Given the description of an element on the screen output the (x, y) to click on. 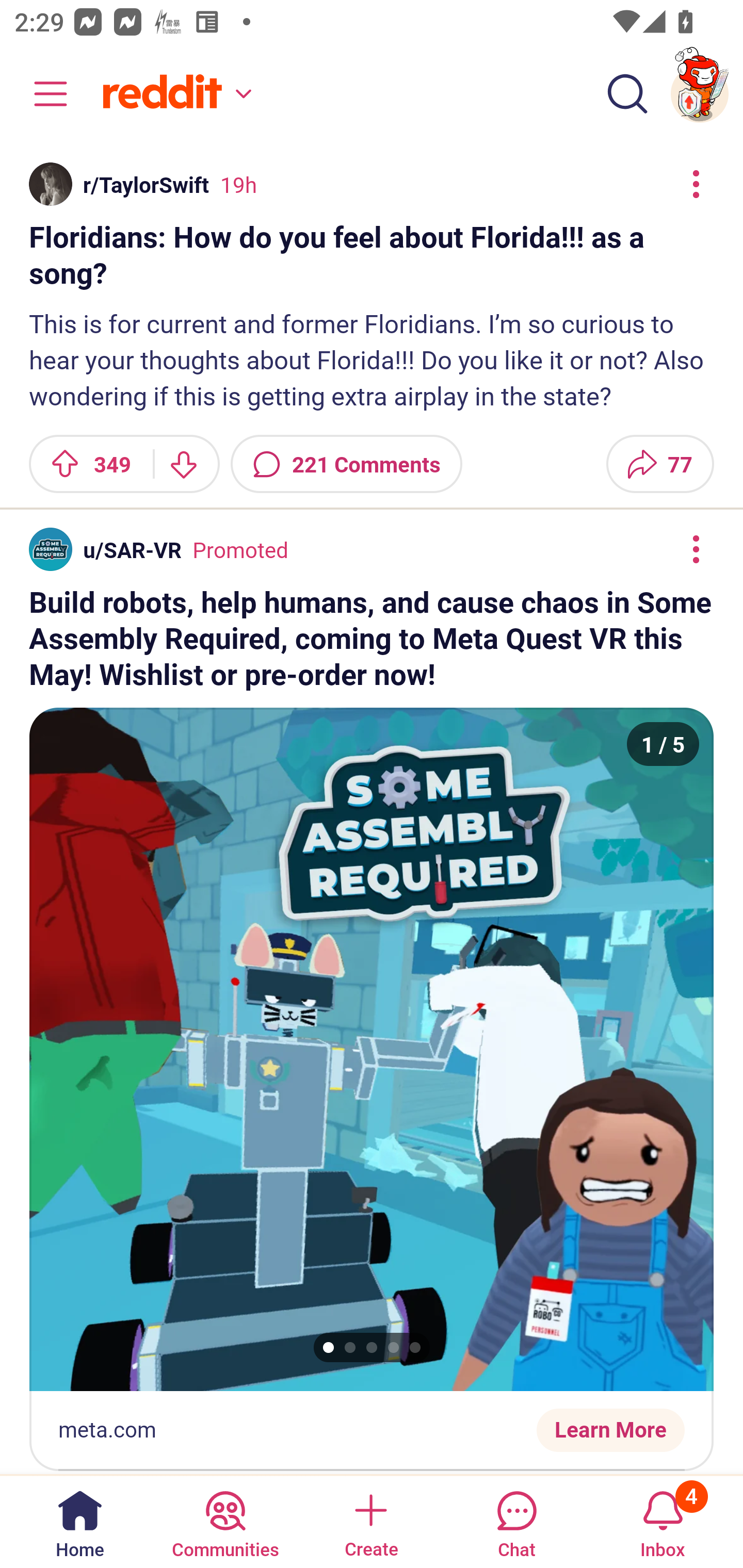
Search (626, 93)
TestAppium002 account (699, 93)
Community menu (41, 94)
Home feed (173, 94)
Home (80, 1520)
Communities (225, 1520)
Create a post Create (370, 1520)
Chat (516, 1520)
Inbox, has 4 notifications 4 Inbox (662, 1520)
